Given the description of an element on the screen output the (x, y) to click on. 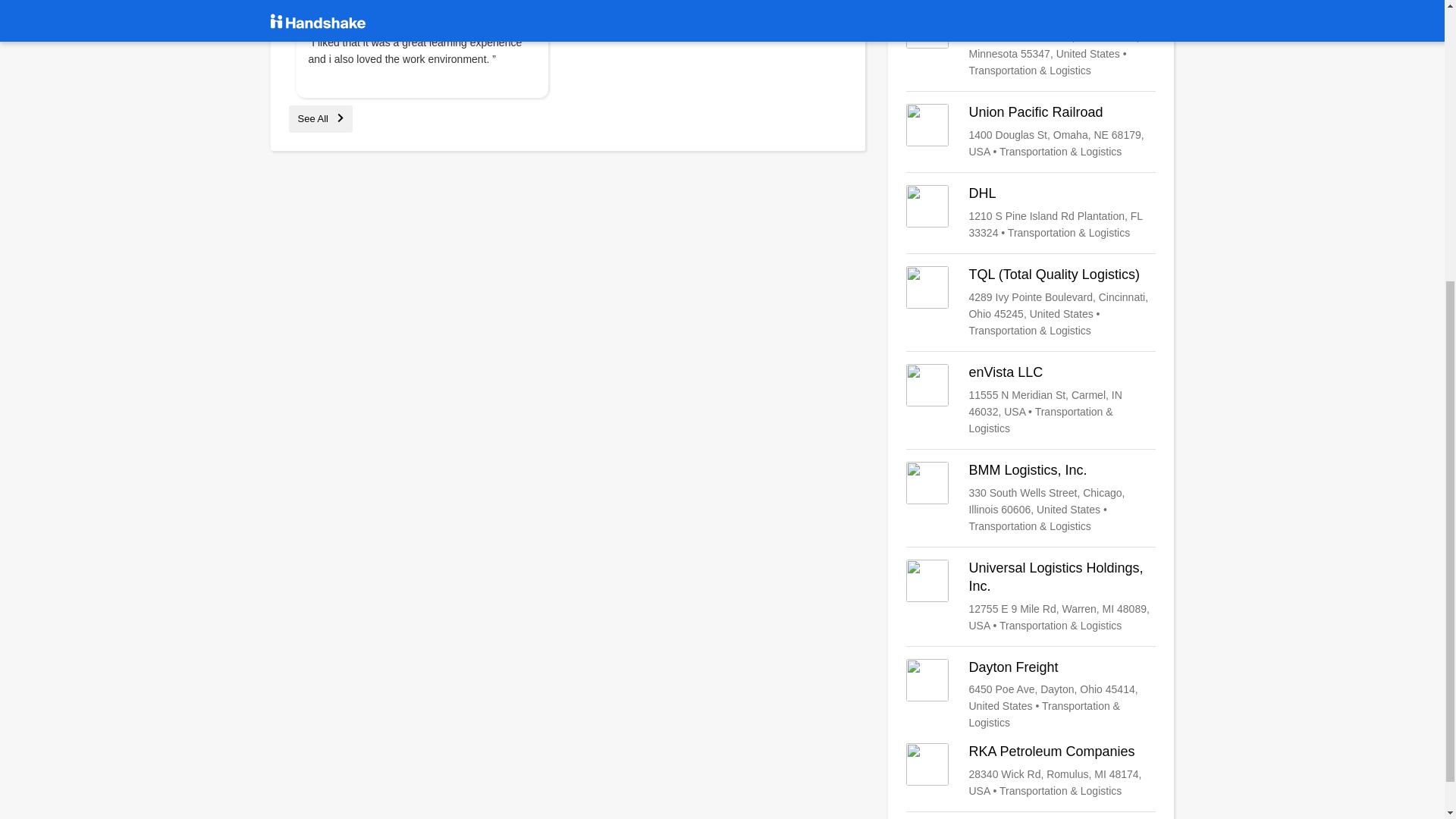
BMM Logistics, Inc. (1030, 497)
Dayton Freight (1030, 695)
enVista LLC (1030, 399)
Universal Logistics Holdings, Inc. (1030, 596)
See All (320, 118)
Union Pacific Railroad (1030, 131)
RKA Petroleum Companies (1030, 770)
C.H. Robinson (1030, 41)
DHL (1030, 212)
